Given the description of an element on the screen output the (x, y) to click on. 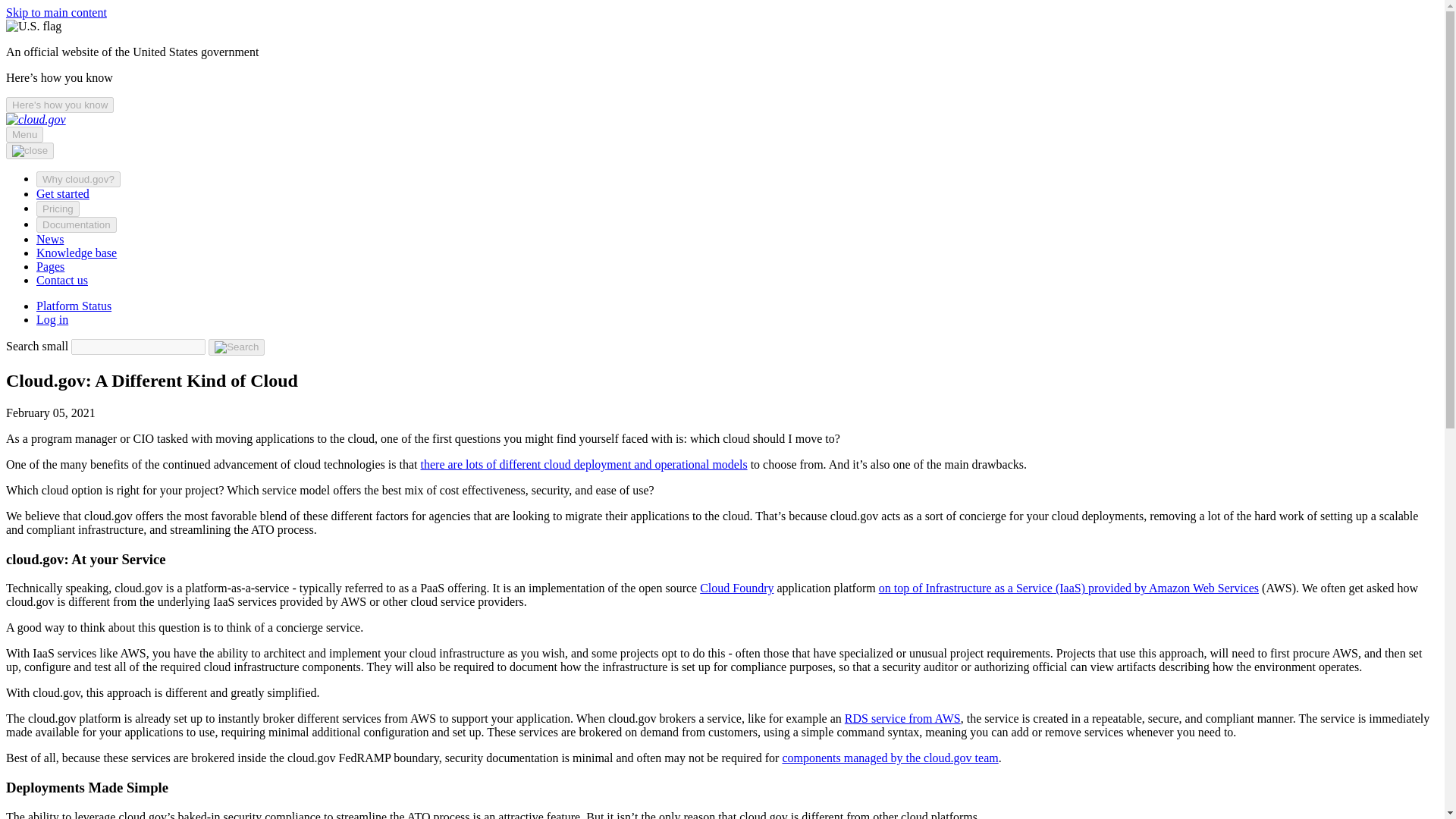
Menu (24, 134)
Log in (52, 318)
Contact us (61, 279)
RDS service from AWS (902, 717)
Knowledge base (76, 252)
Cloud Foundry (736, 587)
Pricing (58, 208)
Here's how you know (59, 105)
components managed by the cloud.gov team (889, 757)
Get started (62, 193)
Documentation (76, 224)
News (50, 238)
Home (35, 119)
Platform Status (74, 305)
Skip to main content (55, 11)
